Given the description of an element on the screen output the (x, y) to click on. 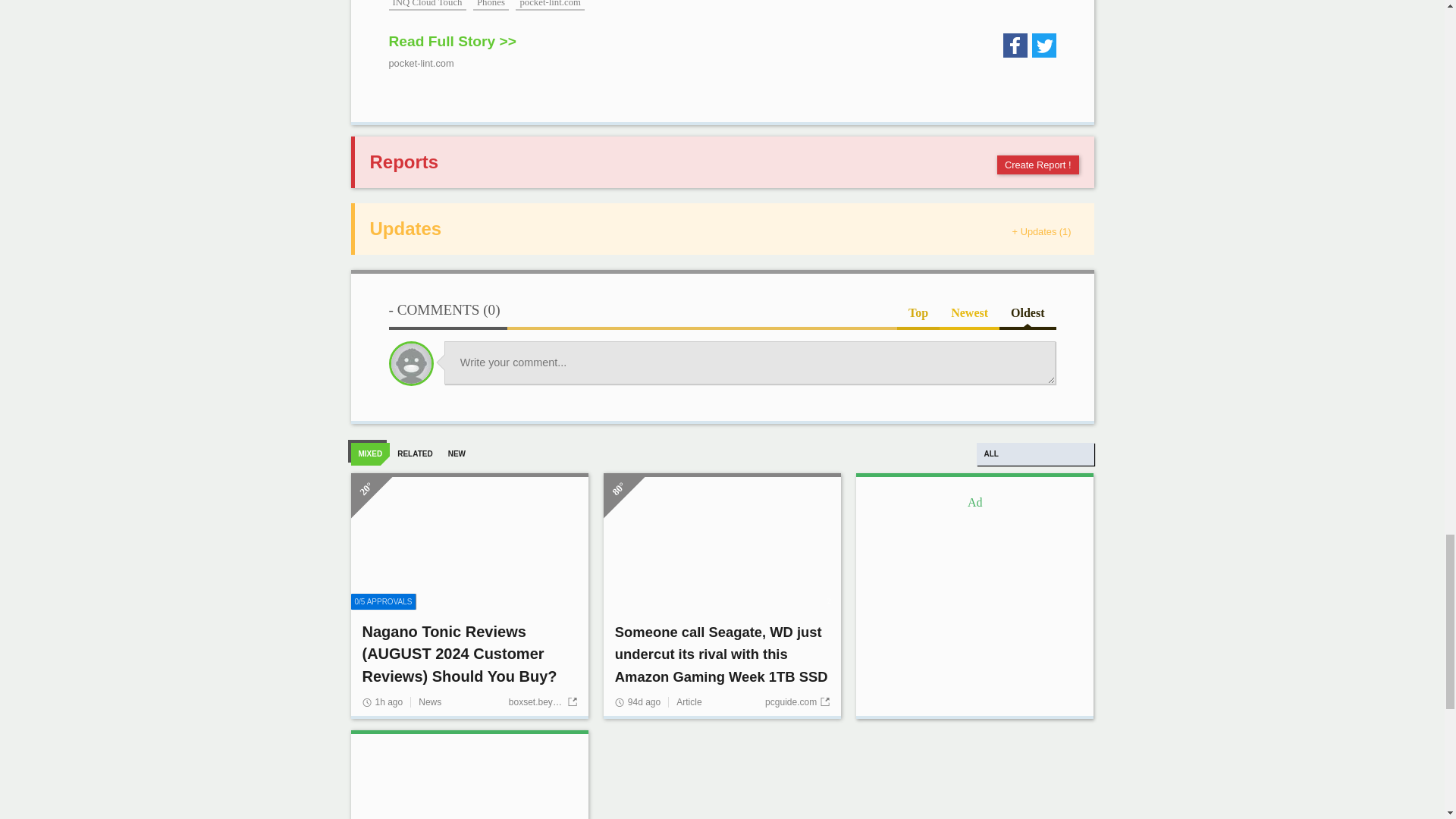
Go to source: boxset.beyonce.com (542, 701)
Go to source: pcguide.com (797, 701)
